Given the description of an element on the screen output the (x, y) to click on. 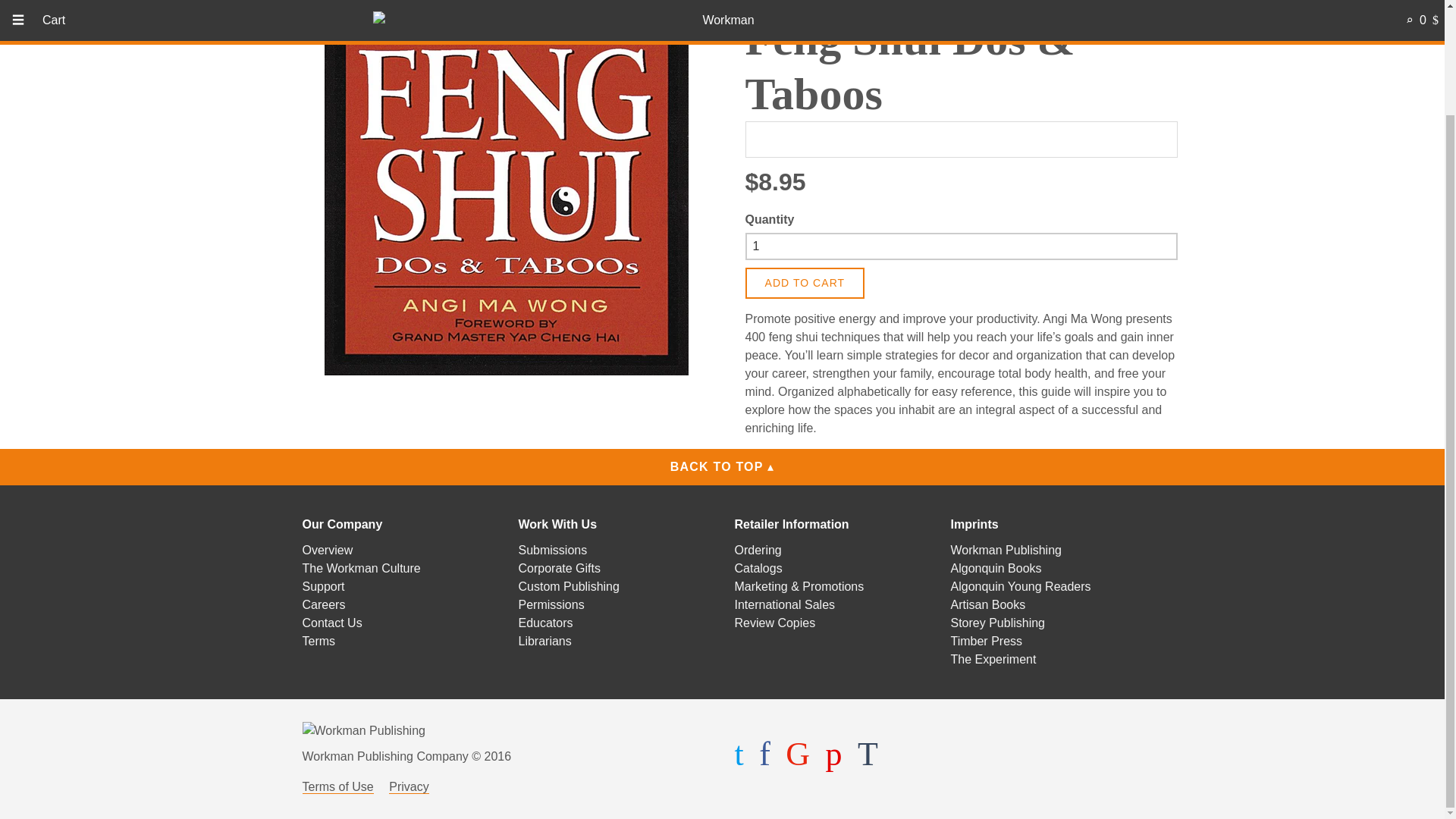
Terms (317, 640)
Review Copies (774, 622)
Ordering (756, 549)
Careers (323, 604)
Submissions (553, 549)
Corporate Gifts (558, 567)
International Sales (783, 604)
Catalogs (757, 567)
Retailer Information (790, 523)
Workman Publishing (1005, 549)
Support (322, 585)
Imprints (974, 523)
The Workman Culture (360, 567)
Educators (545, 622)
Algonquin Books (996, 567)
